Given the description of an element on the screen output the (x, y) to click on. 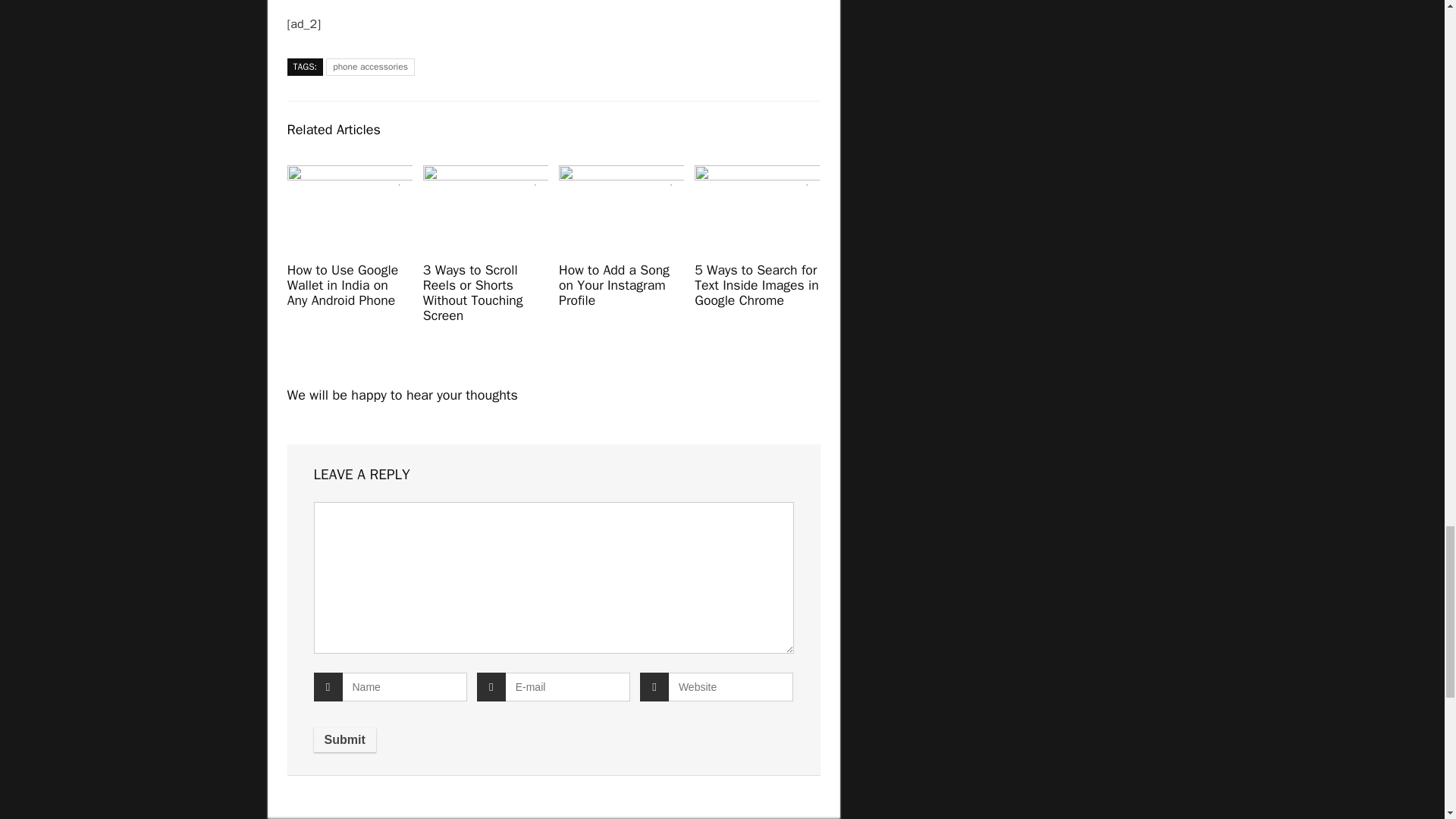
How to Add a Song on Your Instagram Profile (614, 284)
3 Ways to Scroll Reels or Shorts Without Touching Screen (472, 292)
Submit (344, 740)
Submit (344, 740)
How to Use Google Wallet in India on Any Android Phone (342, 284)
phone accessories (370, 67)
5 Ways to Search for Text Inside Images in Google Chrome (756, 284)
